Given the description of an element on the screen output the (x, y) to click on. 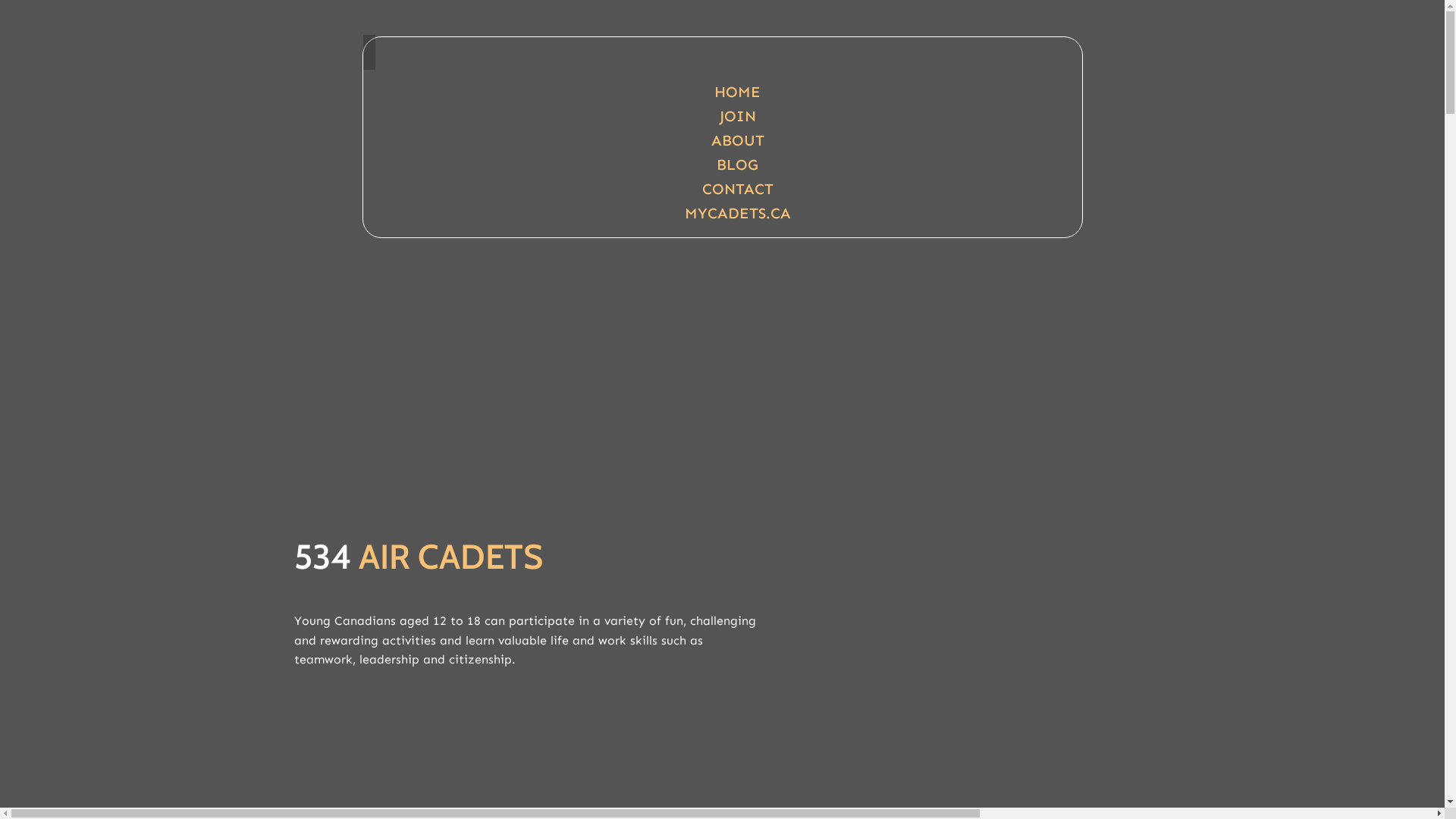
MYCADETS.CA Element type: text (736, 212)
ABOUT Element type: text (737, 139)
HOME Element type: text (737, 91)
JOIN Element type: text (737, 115)
CONTACT Element type: text (737, 188)
BLOG Element type: text (737, 164)
